Given the description of an element on the screen output the (x, y) to click on. 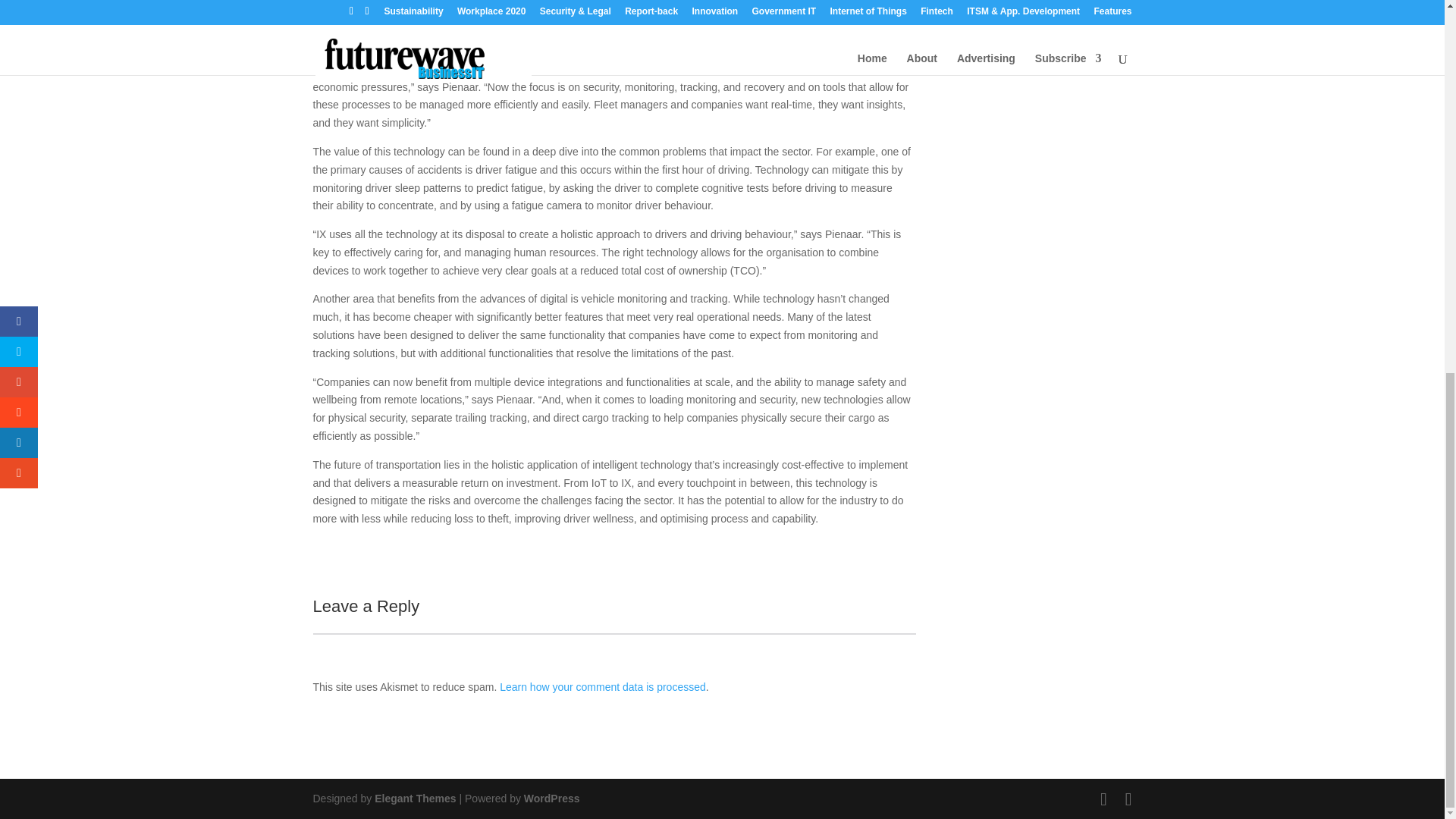
Premium WordPress Themes (414, 798)
Learn how your comment data is processed (602, 686)
